Given the description of an element on the screen output the (x, y) to click on. 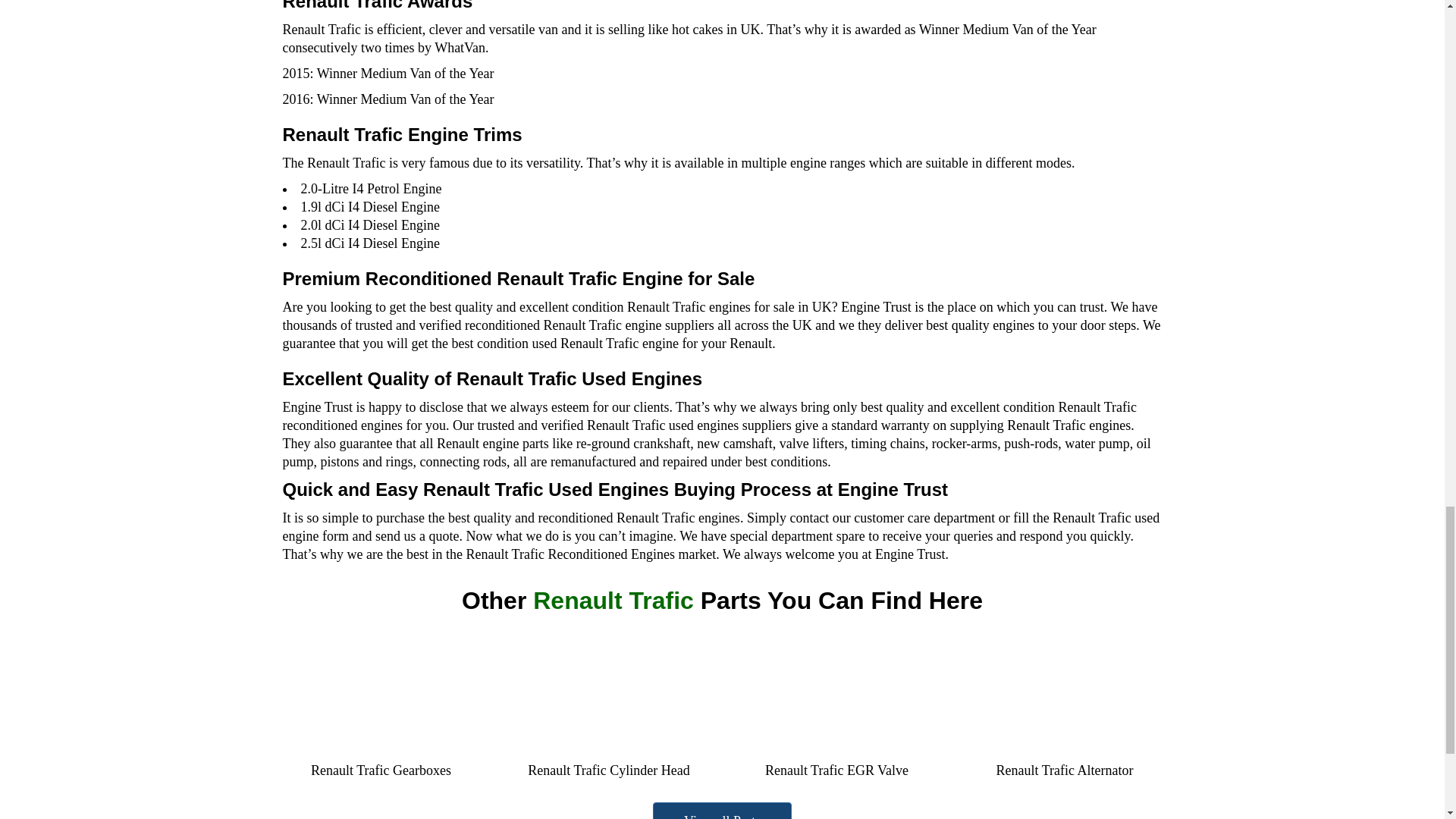
View all Parts (722, 810)
